Given the description of an element on the screen output the (x, y) to click on. 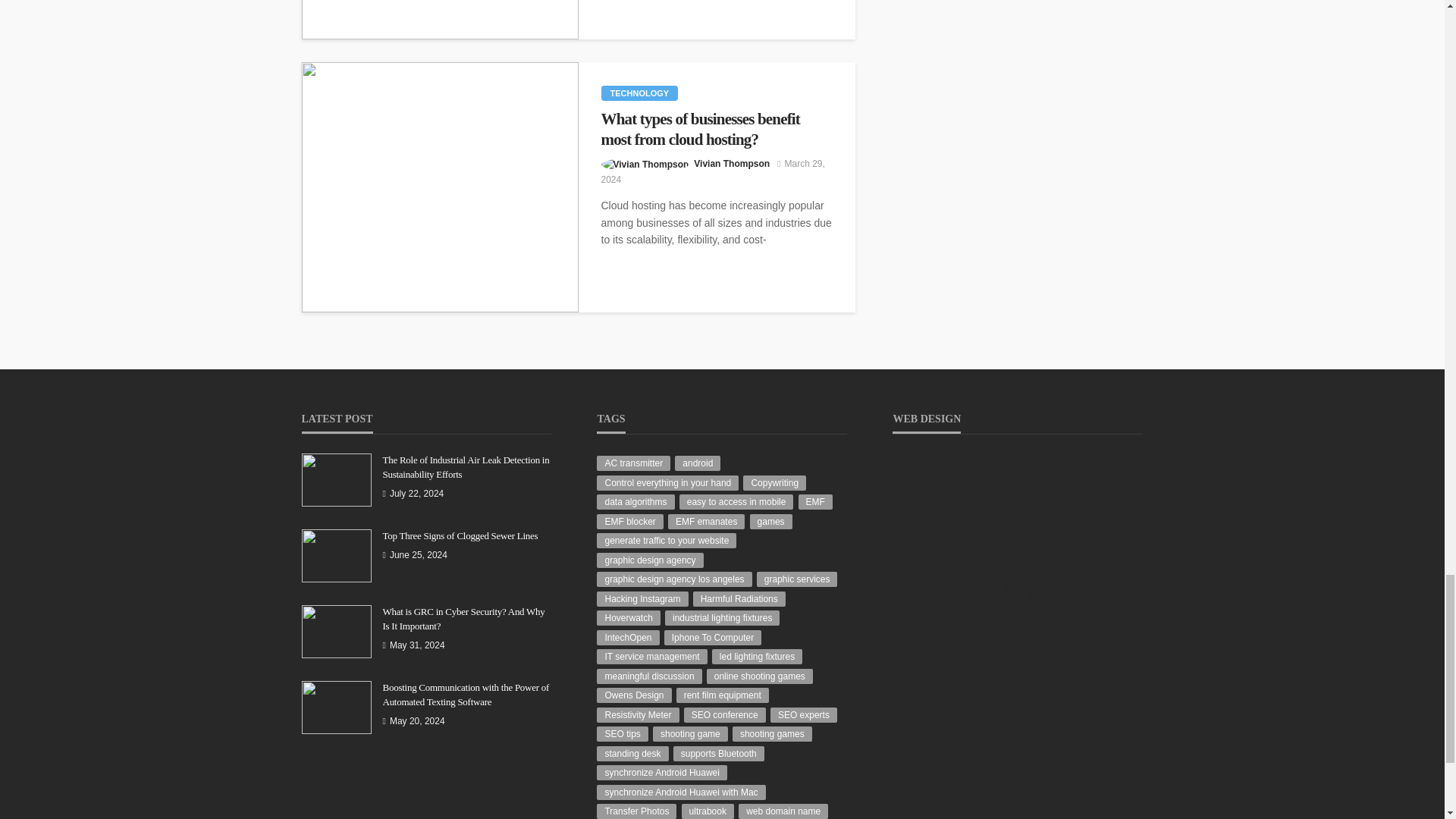
What types of businesses benefit most from cloud hosting? (439, 187)
Technology (638, 92)
What is GRC in Cyber Security? And Why Is It Important? (439, 19)
